Given the description of an element on the screen output the (x, y) to click on. 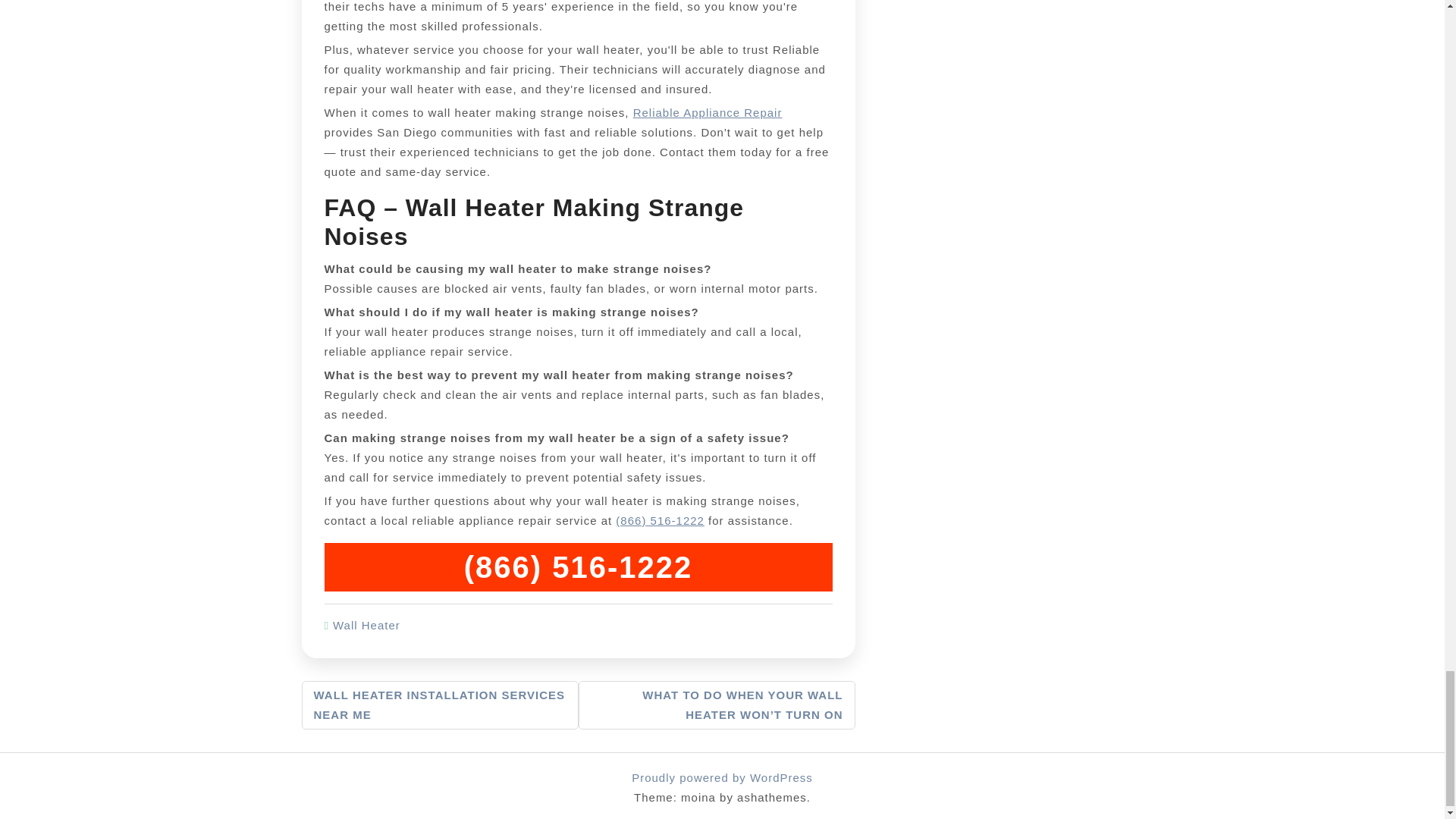
Wall Heater (366, 625)
Proudly powered by WordPress (721, 777)
Reliable Appliance Repair (708, 112)
WALL HEATER INSTALLATION SERVICES NEAR ME (439, 704)
